Given the description of an element on the screen output the (x, y) to click on. 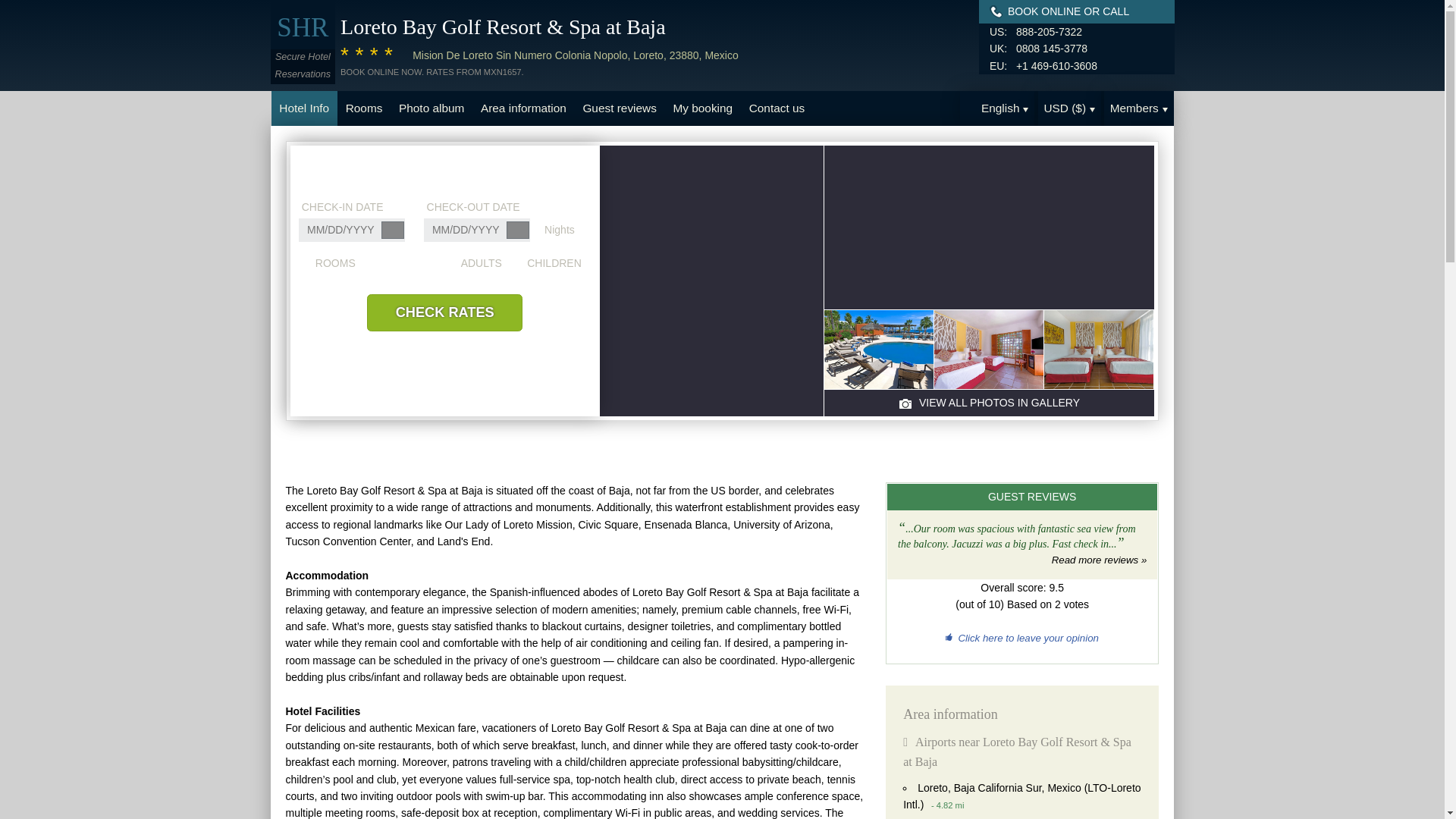
Guest reviews (620, 107)
Hotel Info (303, 107)
My booking (703, 107)
Contact us (776, 107)
Area information (522, 107)
Rooms (363, 107)
